Given the description of an element on the screen output the (x, y) to click on. 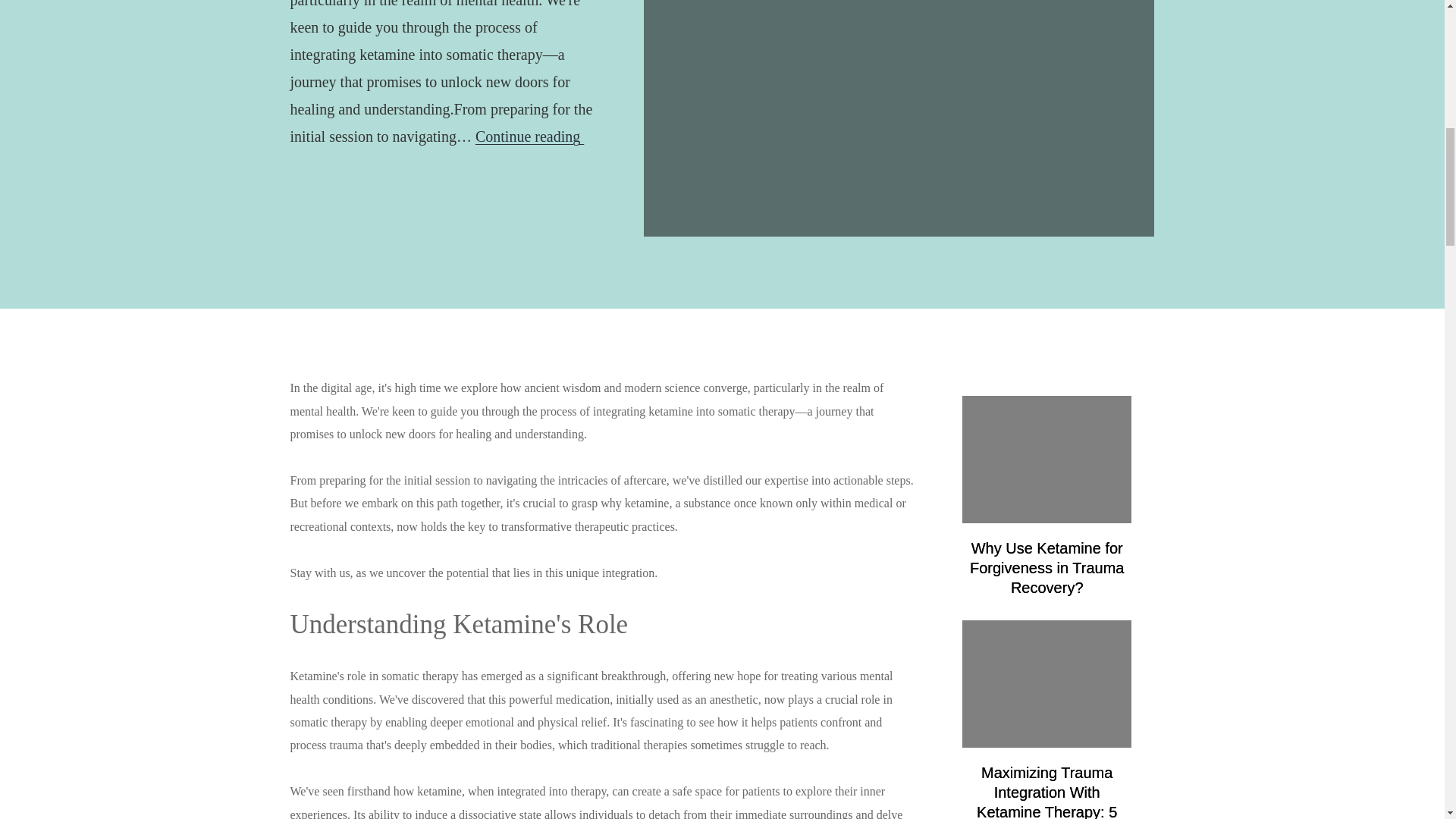
Integrating Ketamine for Somatic Therapy: A How-To Guide 3 (1047, 683)
Integrating Ketamine for Somatic Therapy: A How-To Guide 3 (898, 118)
Integrating Ketamine for Somatic Therapy: A How-To Guide 3 (1047, 459)
